Given the description of an element on the screen output the (x, y) to click on. 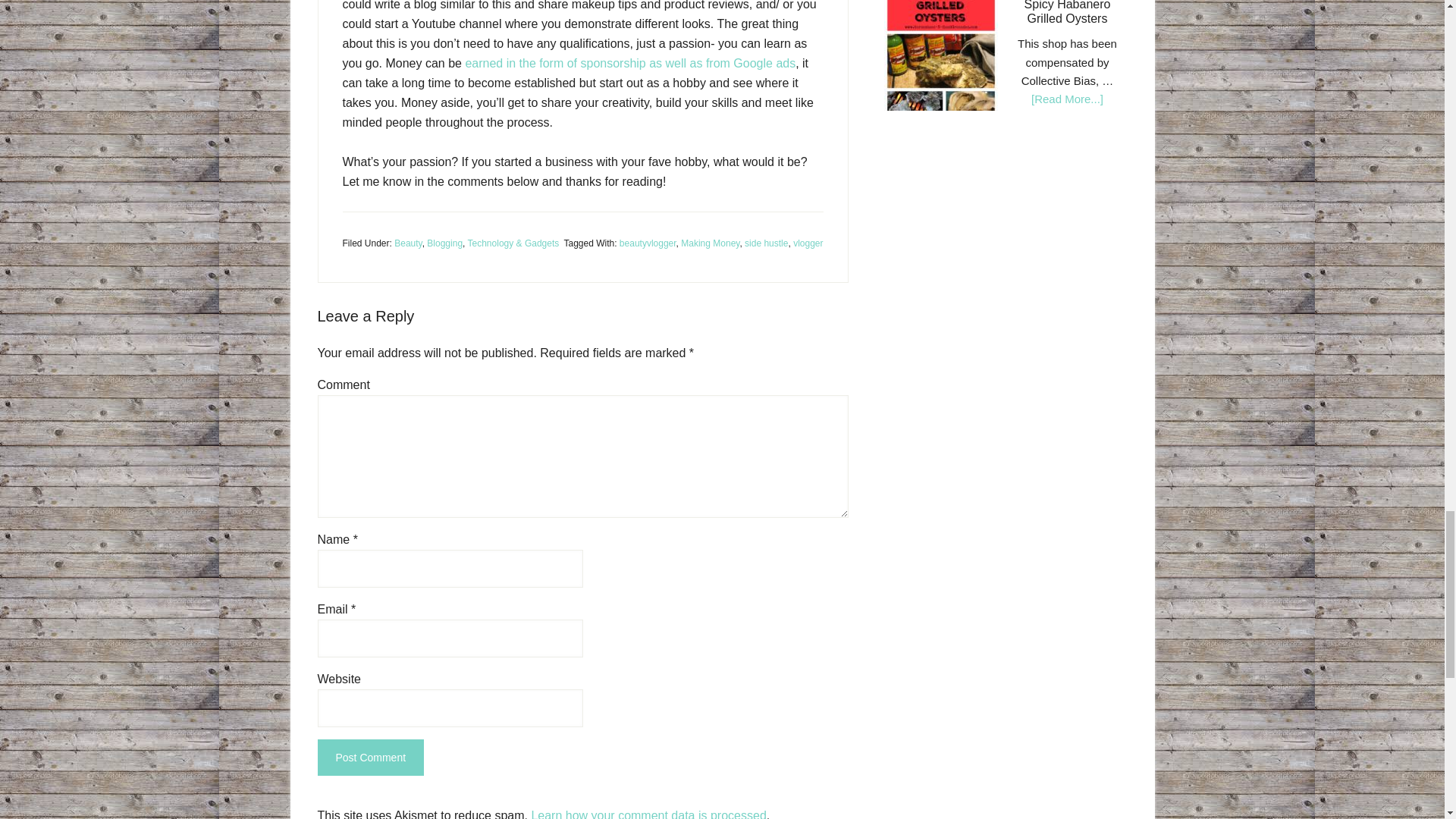
Blogging (444, 243)
vlogger (807, 243)
Post Comment (370, 757)
side hustle (765, 243)
beautyvlogger (648, 243)
Post Comment (370, 757)
Learn how your comment data is processed (648, 814)
Making Money (710, 243)
earned in the form of sponsorship as well as from Google ads (629, 62)
Beauty (408, 243)
